Given the description of an element on the screen output the (x, y) to click on. 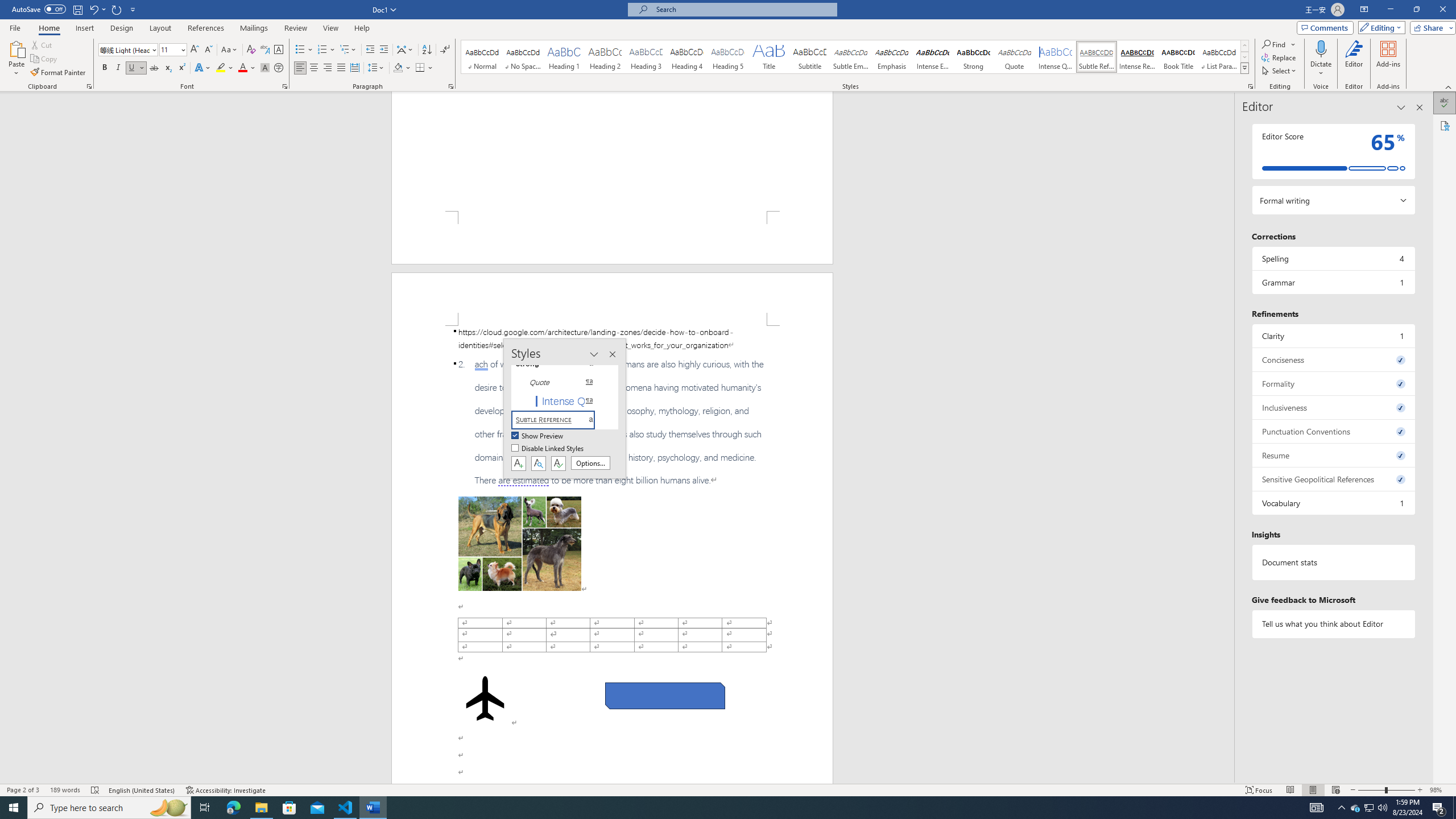
2. (611, 422)
Options... (590, 463)
Resume, 0 issues. Press space or enter to review items. (1333, 454)
